Given the description of an element on the screen output the (x, y) to click on. 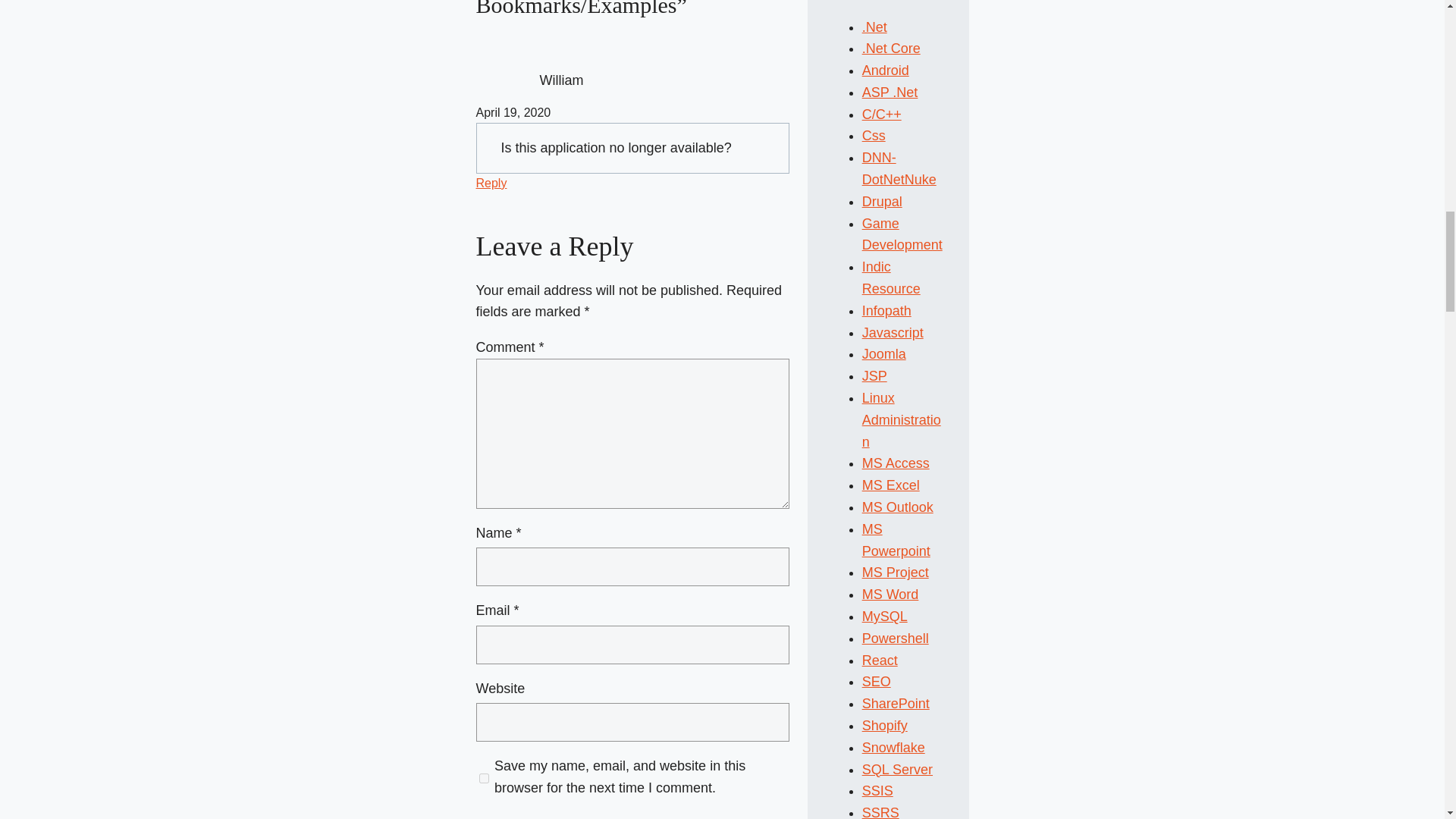
Css (873, 135)
.Net Core (890, 48)
ASP .Net (889, 92)
Reply (491, 182)
DNN-DotNetNuke (898, 168)
Android (884, 70)
.Net (873, 27)
Game Development (901, 234)
Indic Resource (890, 277)
Drupal (881, 201)
